Given the description of an element on the screen output the (x, y) to click on. 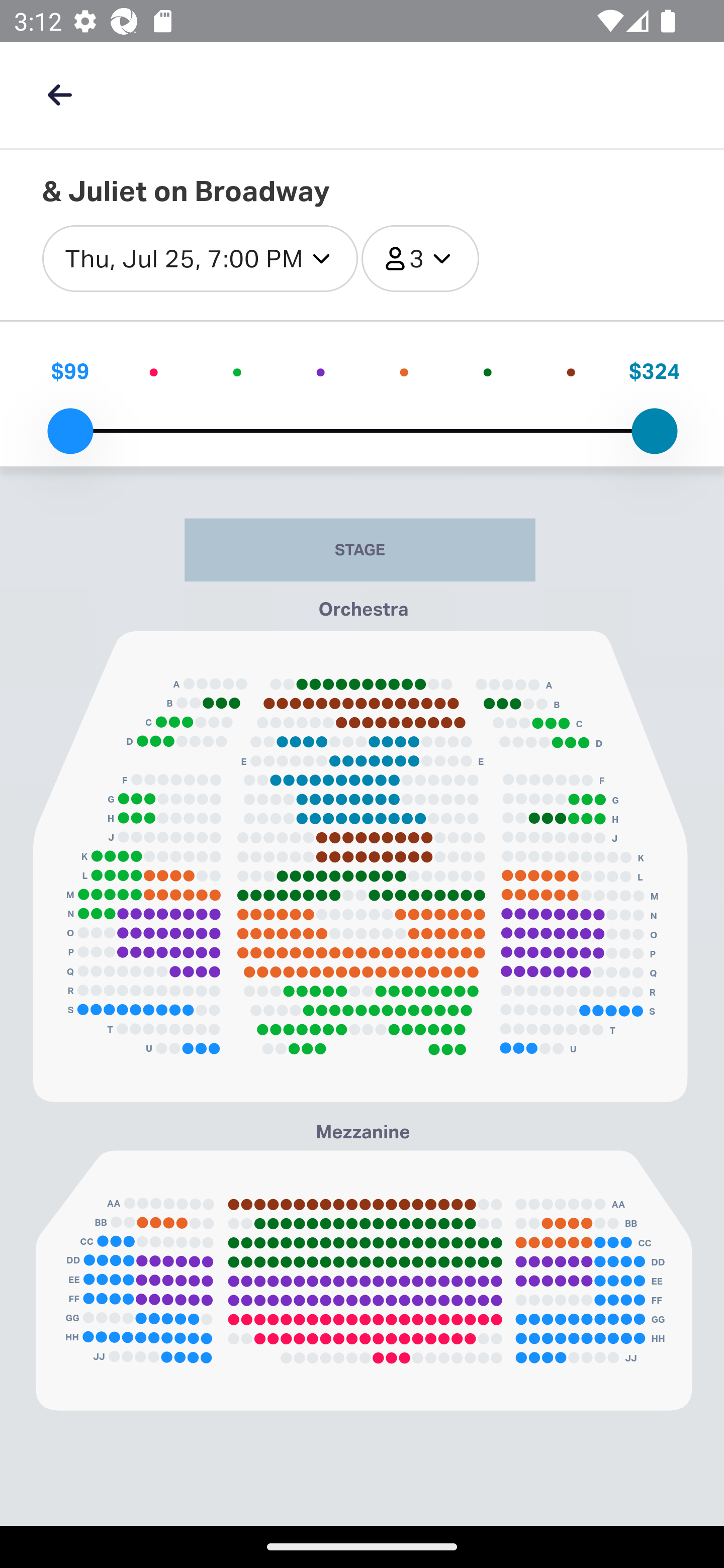
back button (59, 94)
Thu, Jul 25, 7:00 PM (200, 259)
3 (420, 259)
$99 (70, 370)
• (153, 370)
• (236, 370)
• (320, 370)
• (403, 370)
• (488, 370)
• (570, 370)
$324 (653, 370)
0.0 (69, 431)
100.0 (654, 431)
